Given the description of an element on the screen output the (x, y) to click on. 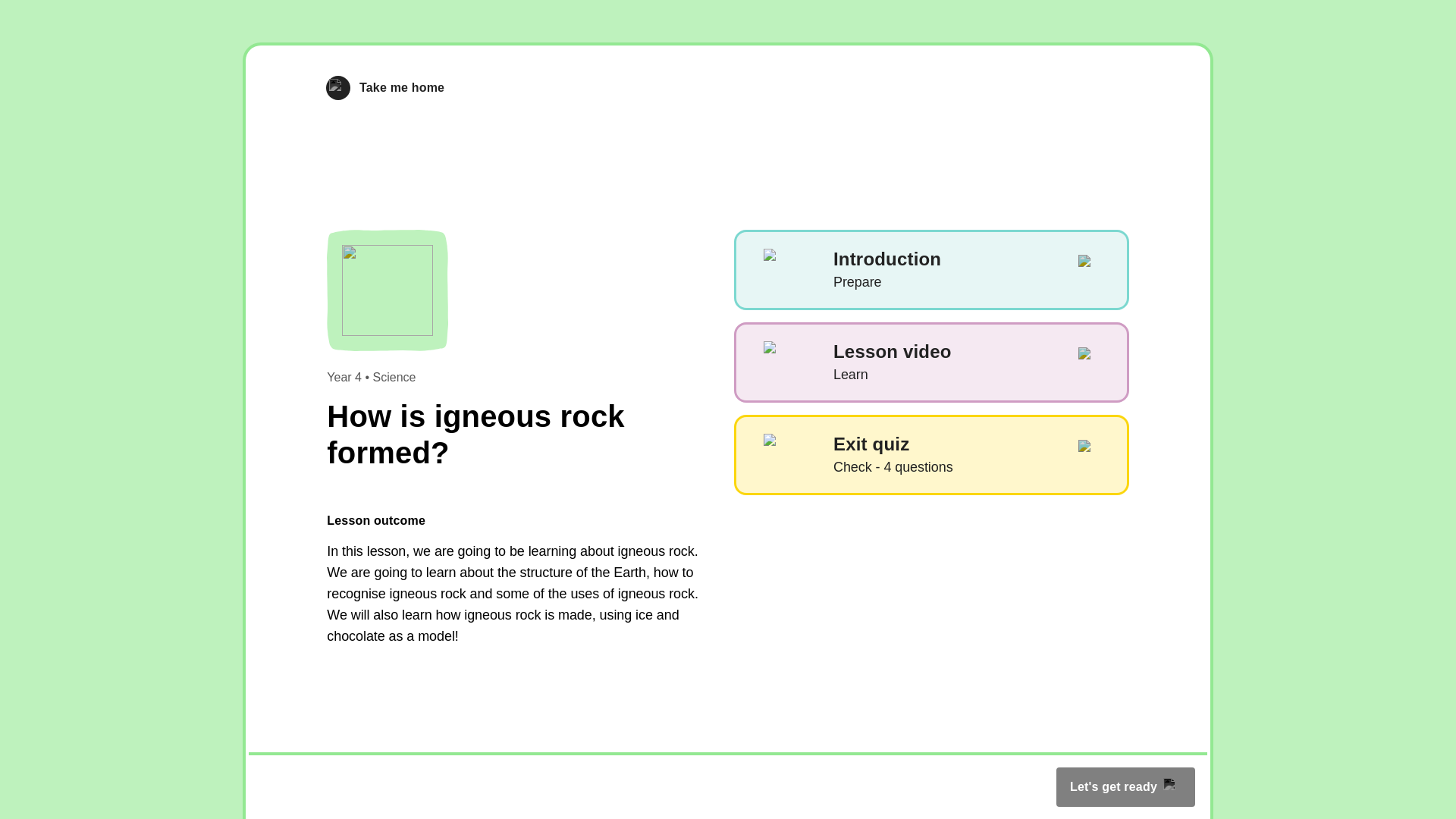
Let's get ready (931, 454)
Take me home (931, 270)
